Given the description of an element on the screen output the (x, y) to click on. 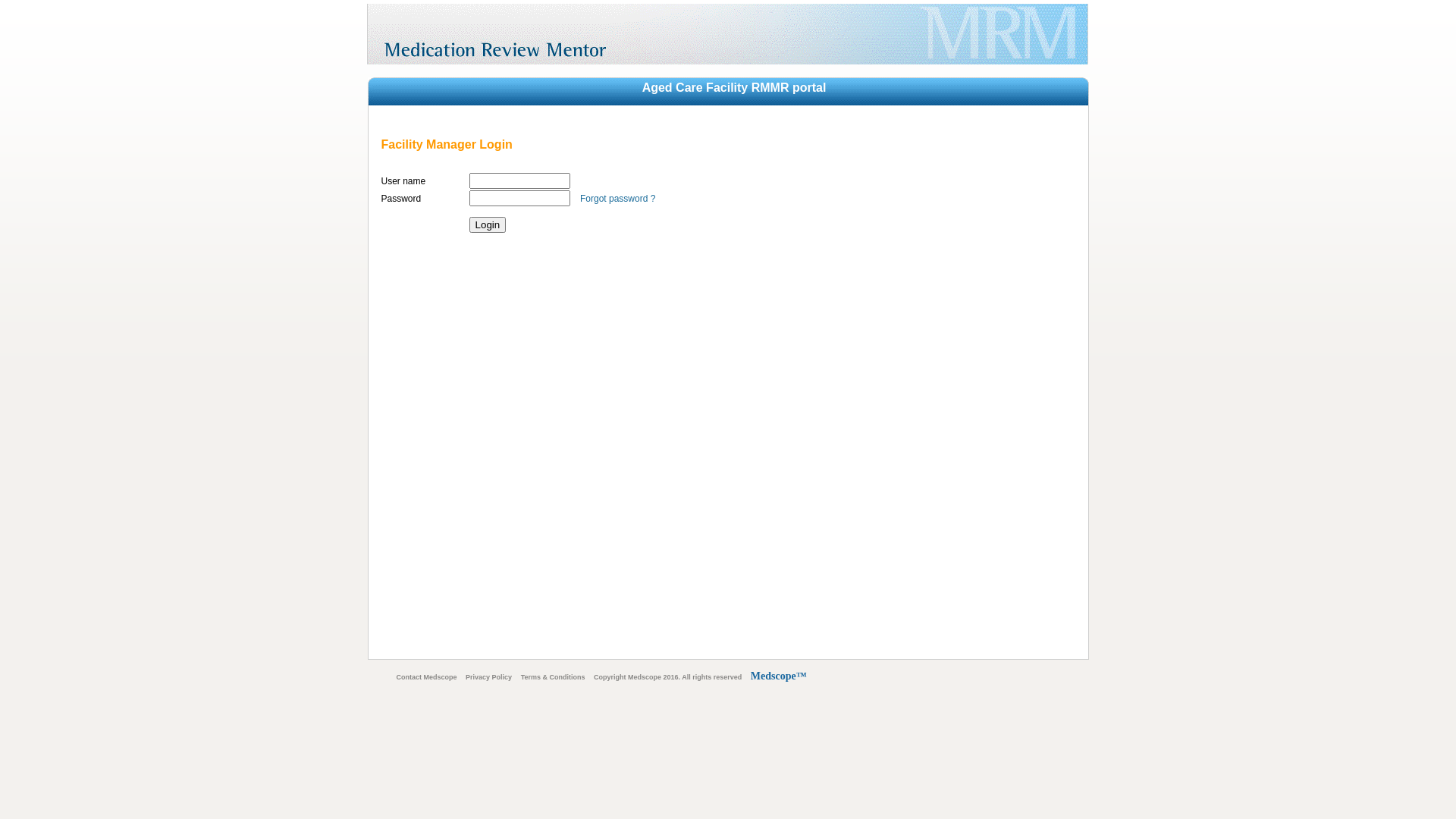
Login Element type: text (487, 224)
Forgot password ? Element type: text (617, 198)
Privacy Policy Element type: text (488, 676)
Terms & Conditions Element type: text (552, 676)
Contact Medscope Element type: text (425, 676)
